Given the description of an element on the screen output the (x, y) to click on. 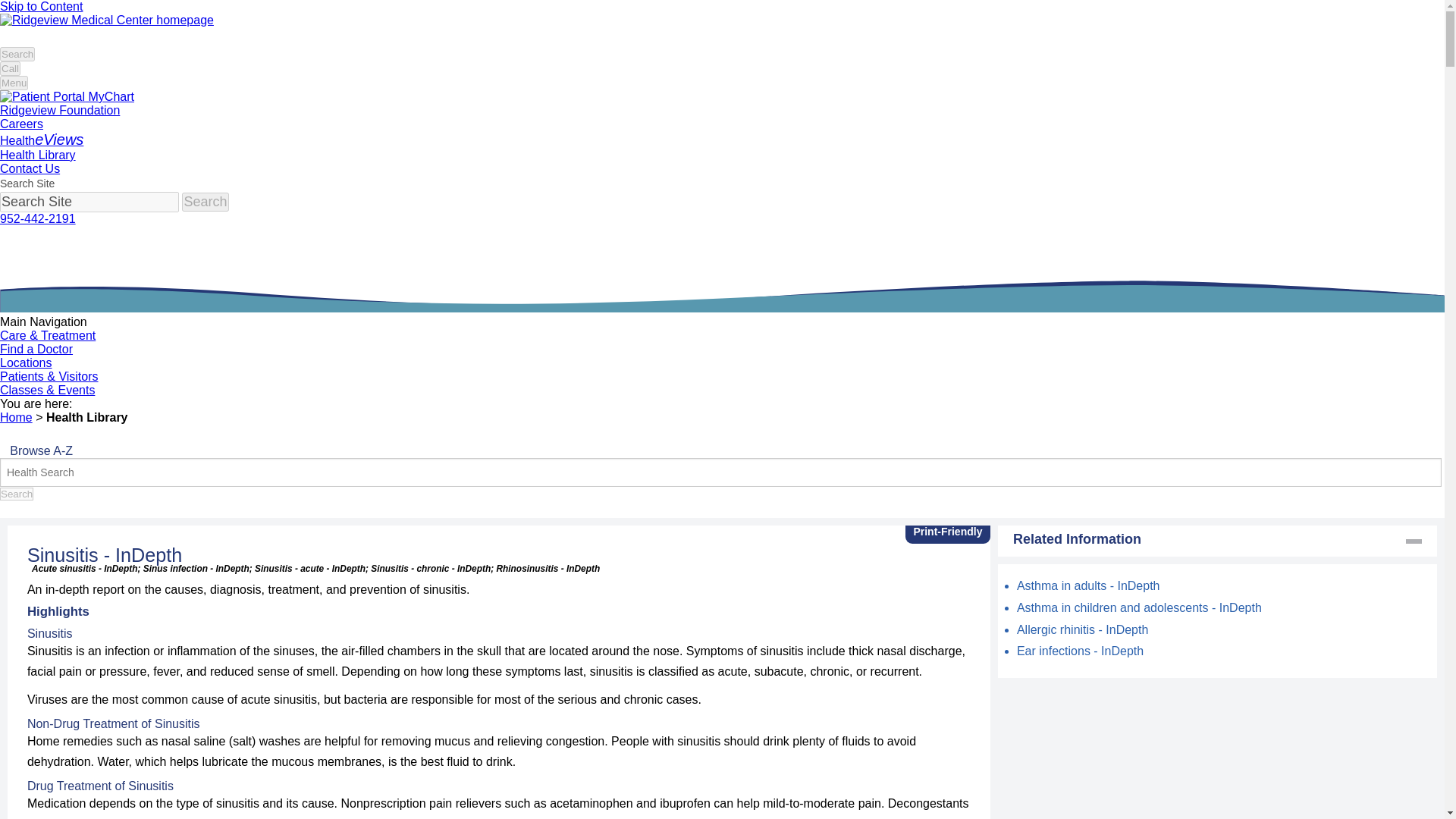
Call (10, 68)
Call (10, 68)
Health Search (720, 471)
Search (205, 201)
Find a Doctor (36, 349)
Menu (13, 83)
Menu (13, 83)
952-442-2191 (37, 218)
MyChart (66, 96)
Ridgeview Foundation (59, 110)
Locations (26, 362)
Careers (21, 123)
Skip to Content (41, 6)
